Given the description of an element on the screen output the (x, y) to click on. 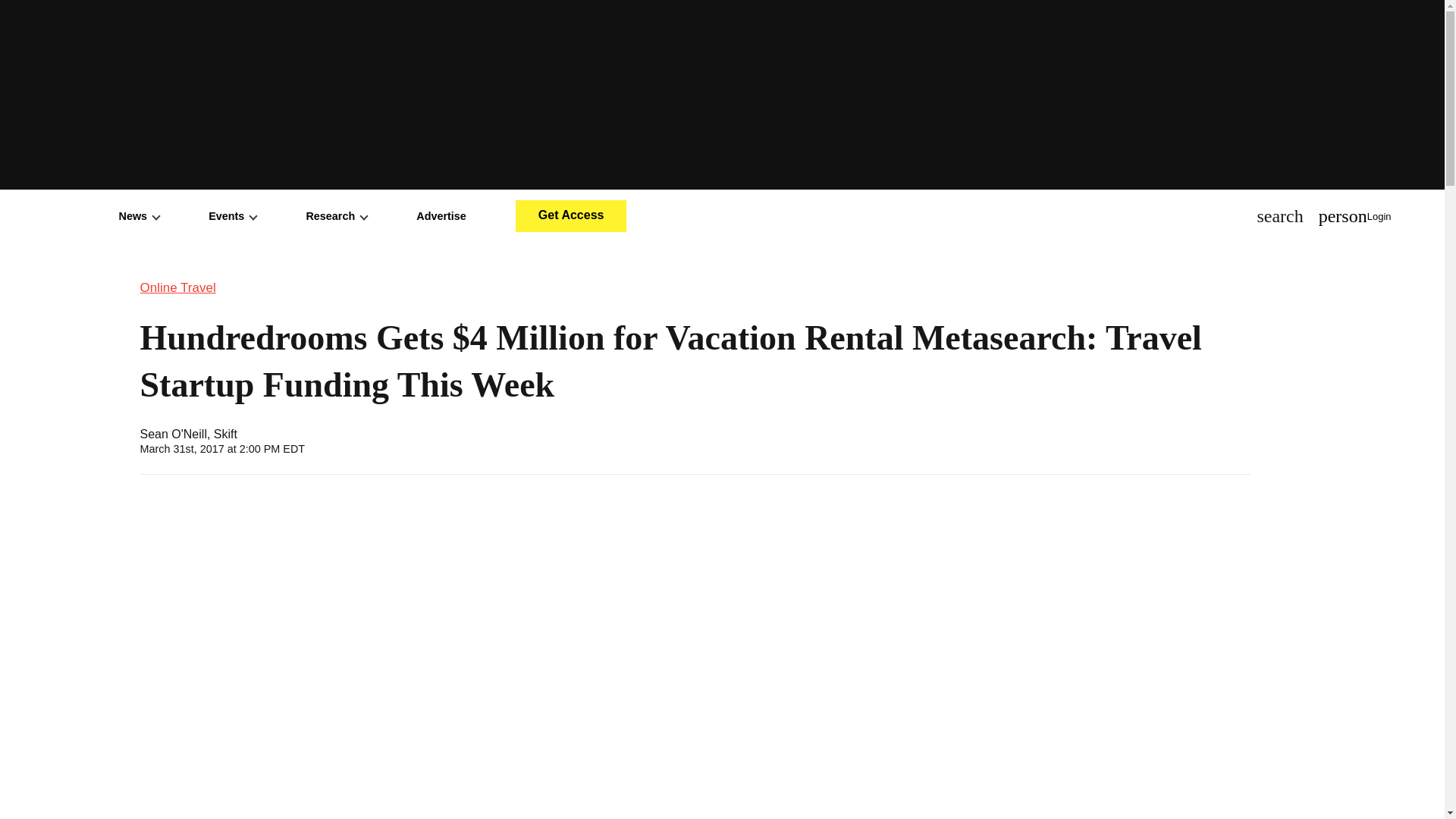
Research (335, 215)
Events (232, 215)
